Given the description of an element on the screen output the (x, y) to click on. 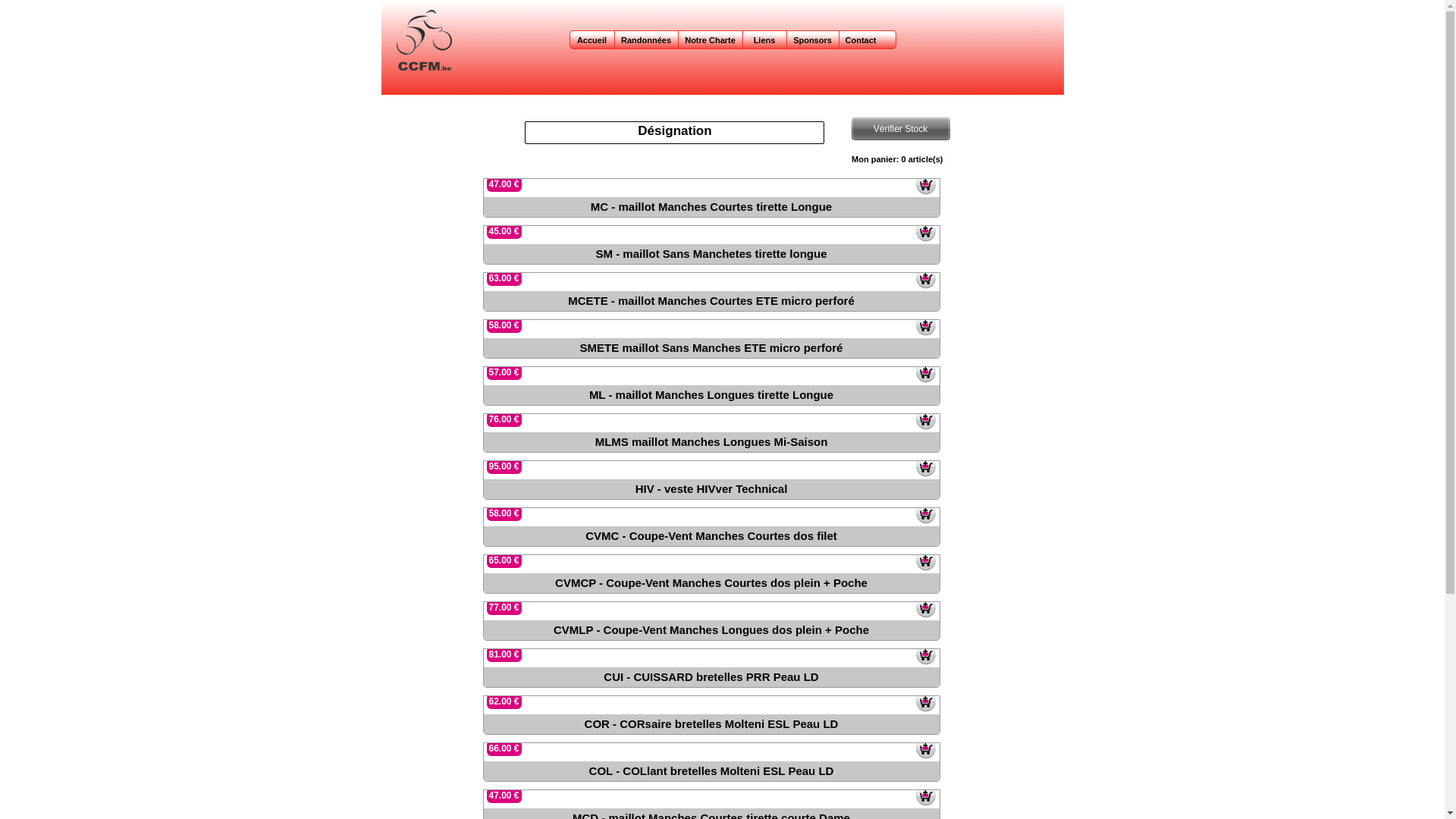
Sponsors Element type: text (813, 39)
Ajouter au panier Element type: hover (924, 560)
Liens Element type: text (764, 38)
Ajouter au panier Element type: hover (924, 371)
Contact Element type: text (860, 38)
Ajouter au panier Element type: hover (924, 277)
Ajouter au panier Element type: hover (924, 654)
Ajouter au panier Element type: hover (924, 607)
Ajouter au panier Element type: hover (924, 324)
Accueil Element type: text (592, 39)
Ajouter au panier Element type: hover (924, 748)
Sponsors Element type: text (812, 38)
Ajouter au panier Element type: hover (924, 701)
Accueil Element type: text (591, 38)
Ajouter au panier Element type: hover (924, 230)
Ajouter au panier Element type: hover (924, 418)
Contact Element type: text (859, 39)
Ajouter au panier Element type: hover (924, 183)
Ajouter au panier Element type: hover (924, 795)
Ajouter au panier Element type: hover (924, 513)
Liens Element type: text (765, 39)
Ajouter au panier Element type: hover (924, 465)
Notre Charte Element type: text (709, 38)
  Element type: text (381, 6)
Notre Charte Element type: text (709, 39)
